Given the description of an element on the screen output the (x, y) to click on. 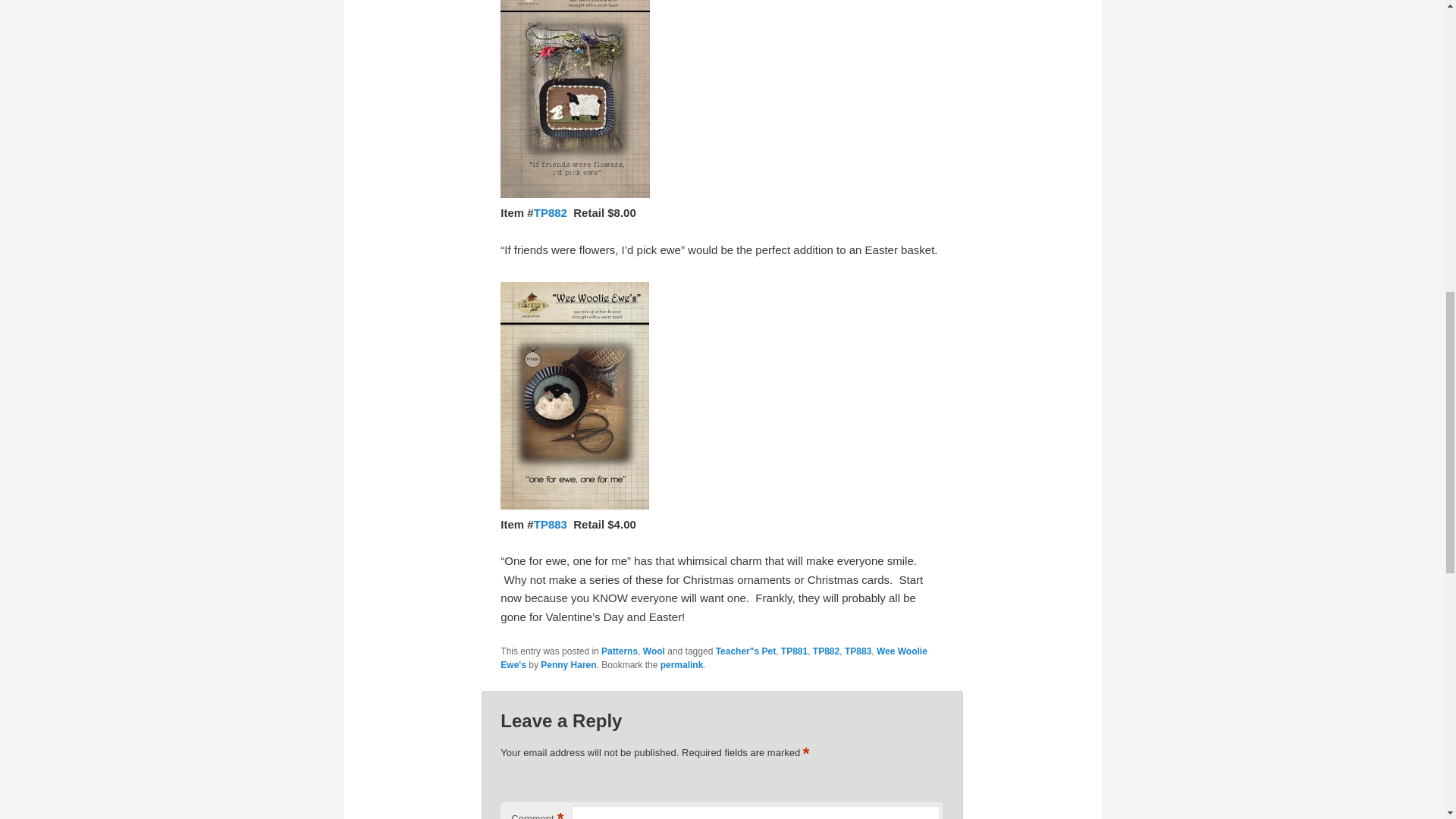
TP881 (794, 651)
Penny Haren (567, 665)
permalink (682, 665)
TP882 (826, 651)
Wool (654, 651)
Teacher"s Pet (746, 651)
Wee Woolie Ewe's (713, 658)
TP883 (857, 651)
TP883 (552, 523)
TP882 (550, 212)
